Given the description of an element on the screen output the (x, y) to click on. 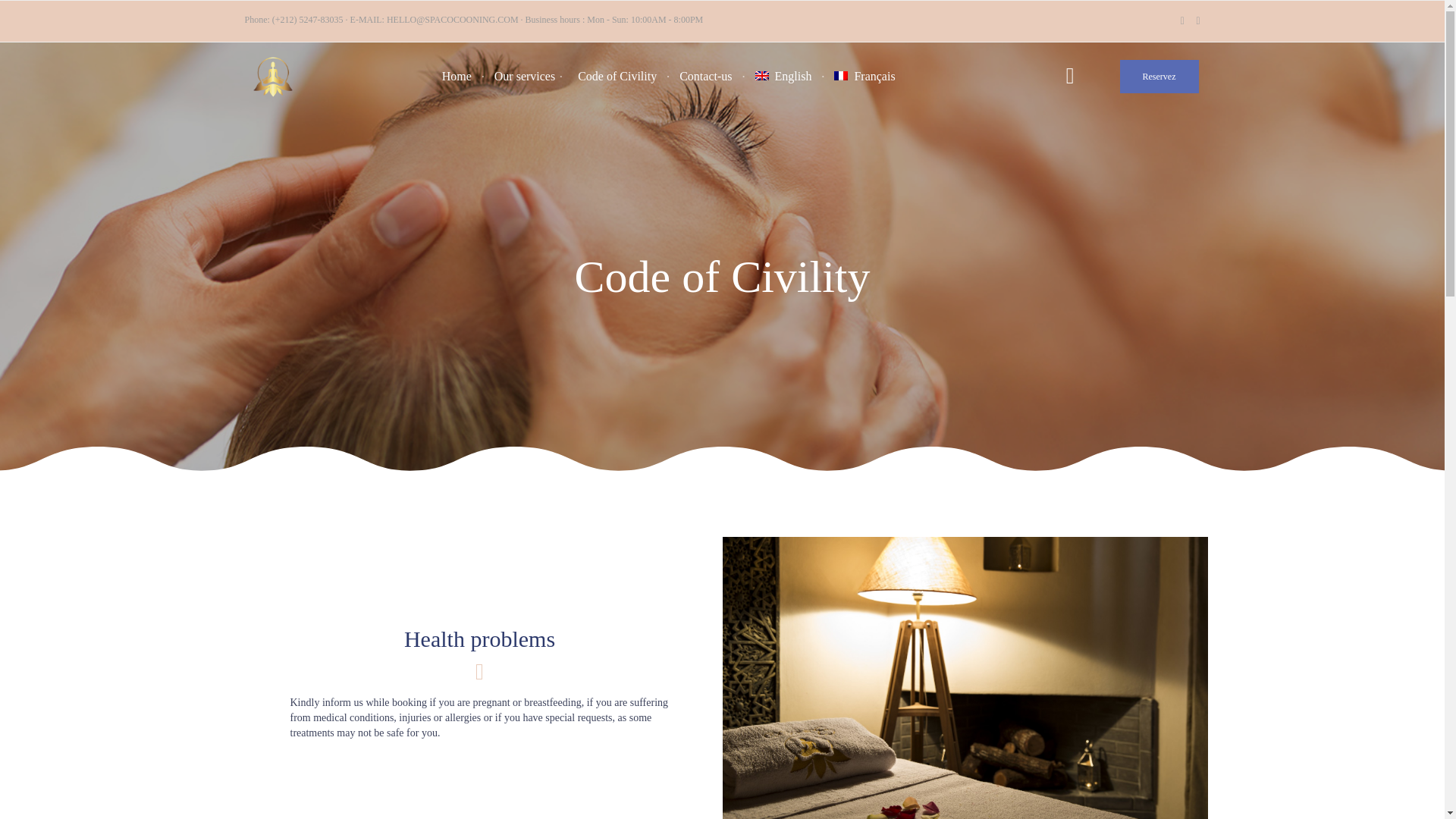
Reservez (1158, 76)
English (784, 76)
Spa Cocooning (272, 76)
Contact-us (705, 76)
Code of Civility (617, 76)
Our services (524, 76)
English (761, 75)
English (784, 76)
